Given the description of an element on the screen output the (x, y) to click on. 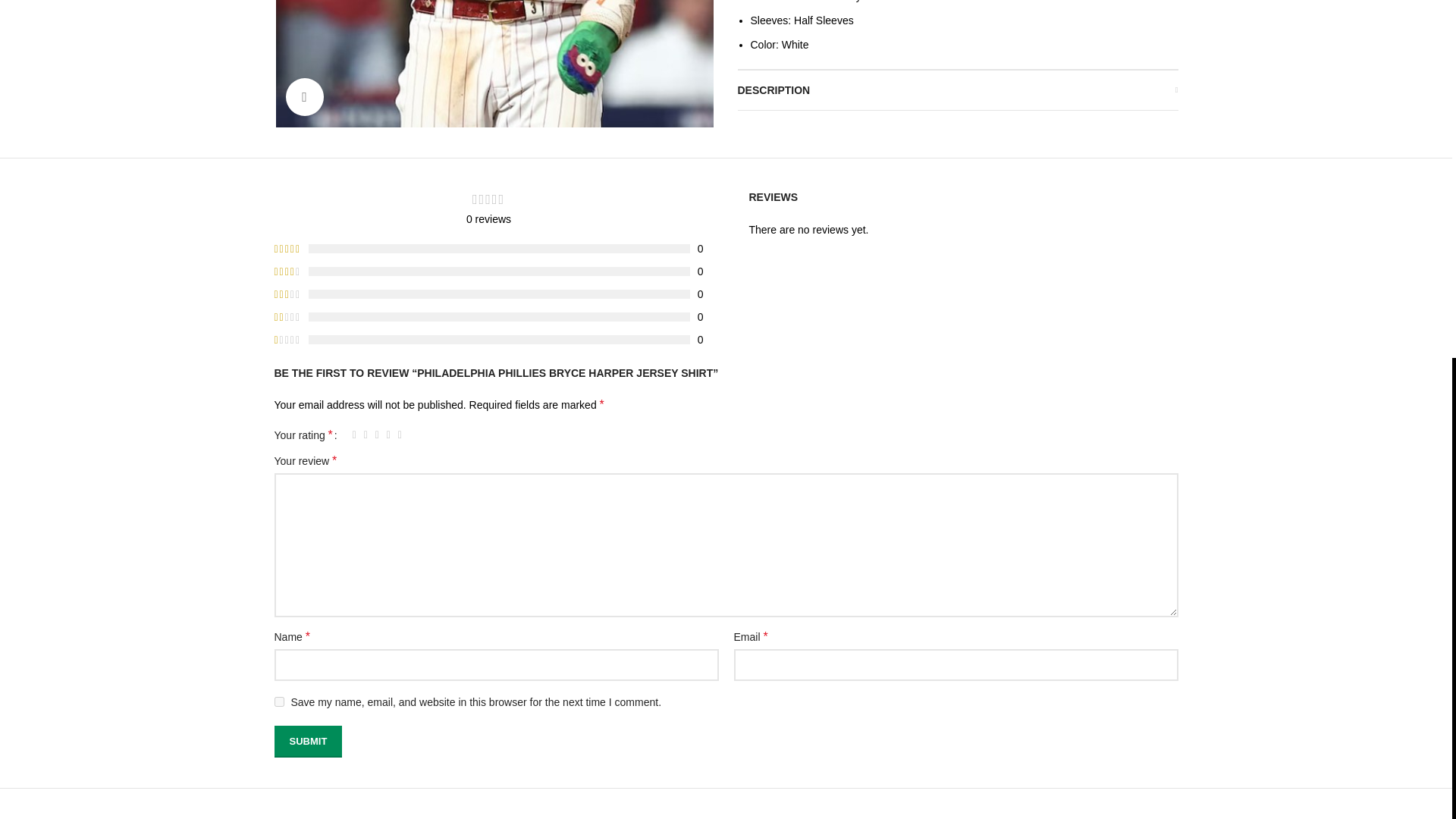
5 (400, 434)
Submit (308, 741)
3 (376, 434)
Size Guide (531, 7)
Shipping and Delivery (326, 67)
2 (365, 434)
yes (279, 701)
4 (388, 434)
Privacy Policy (307, 7)
How to Checkout (545, 37)
